Given the description of an element on the screen output the (x, y) to click on. 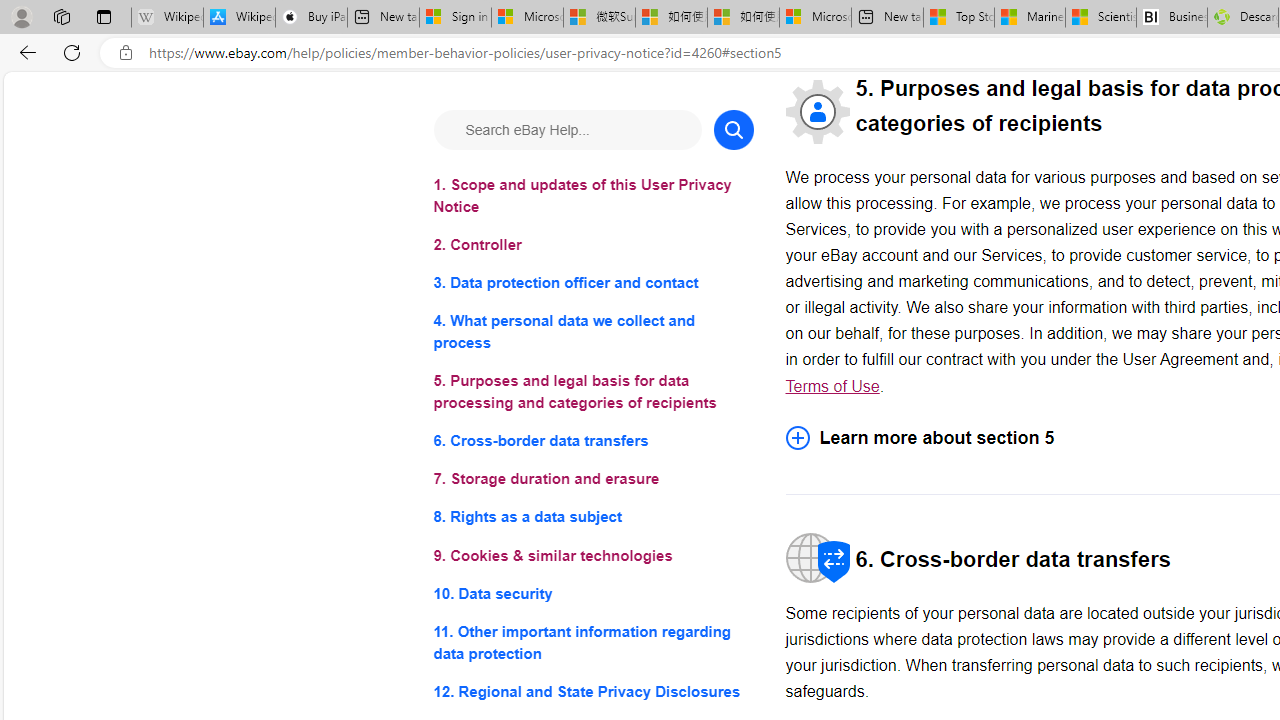
Marine life - MSN (1029, 17)
1. Scope and updates of this User Privacy Notice (592, 196)
12. Regional and State Privacy Disclosures (592, 690)
7. Storage duration and erasure (592, 479)
Microsoft account | Account Checkup (815, 17)
2. Controller (592, 245)
7. Storage duration and erasure (592, 479)
6. Cross-border data transfers (592, 440)
